Given the description of an element on the screen output the (x, y) to click on. 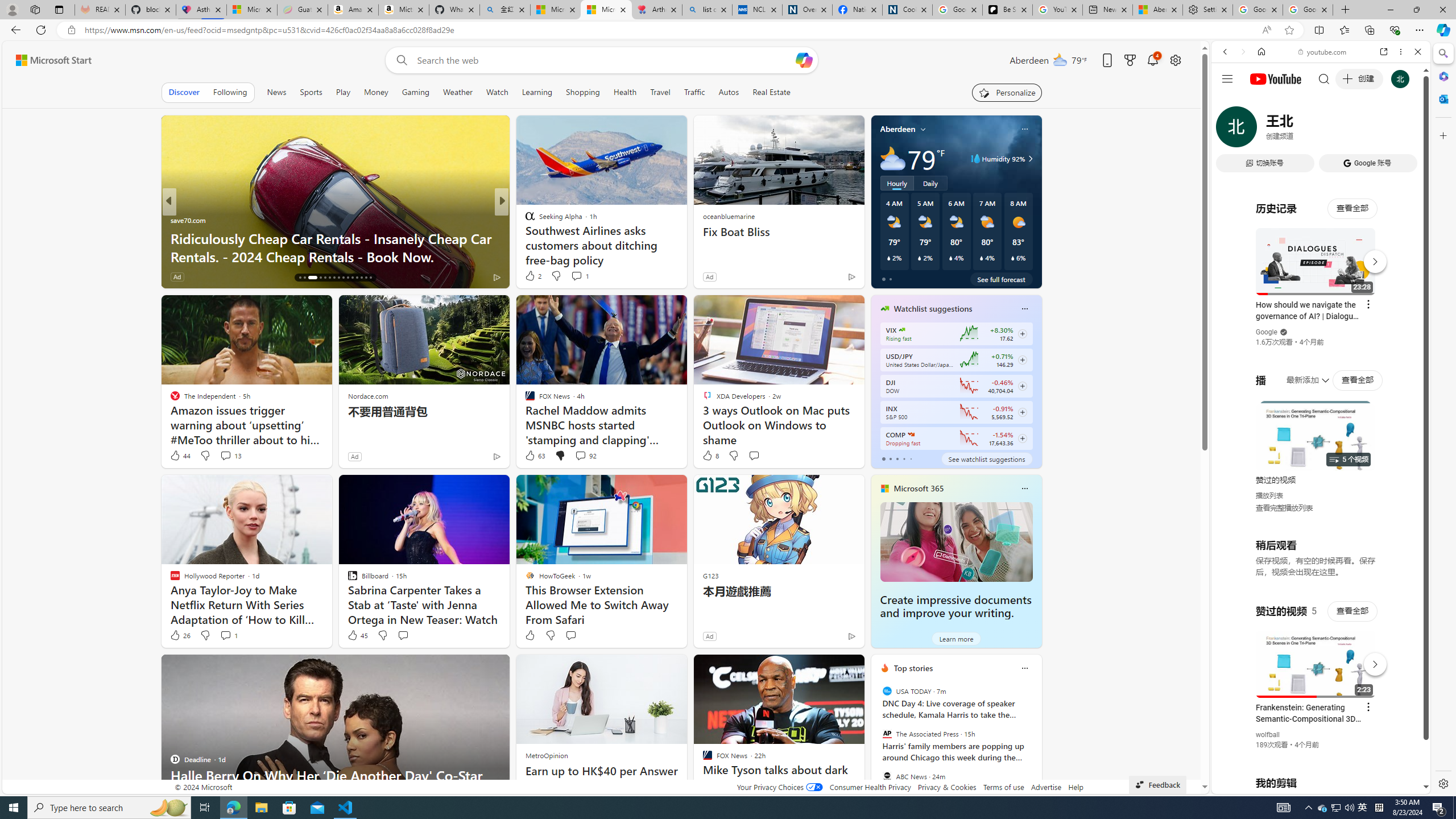
Google (1266, 331)
Class: dict_pnIcon rms_img (1312, 784)
Weather (457, 92)
Ad Choice (851, 635)
Class: weather-arrow-glyph (1029, 158)
Search Filter, WEB (1230, 129)
Learning (537, 92)
Money (375, 92)
